Given the description of an element on the screen output the (x, y) to click on. 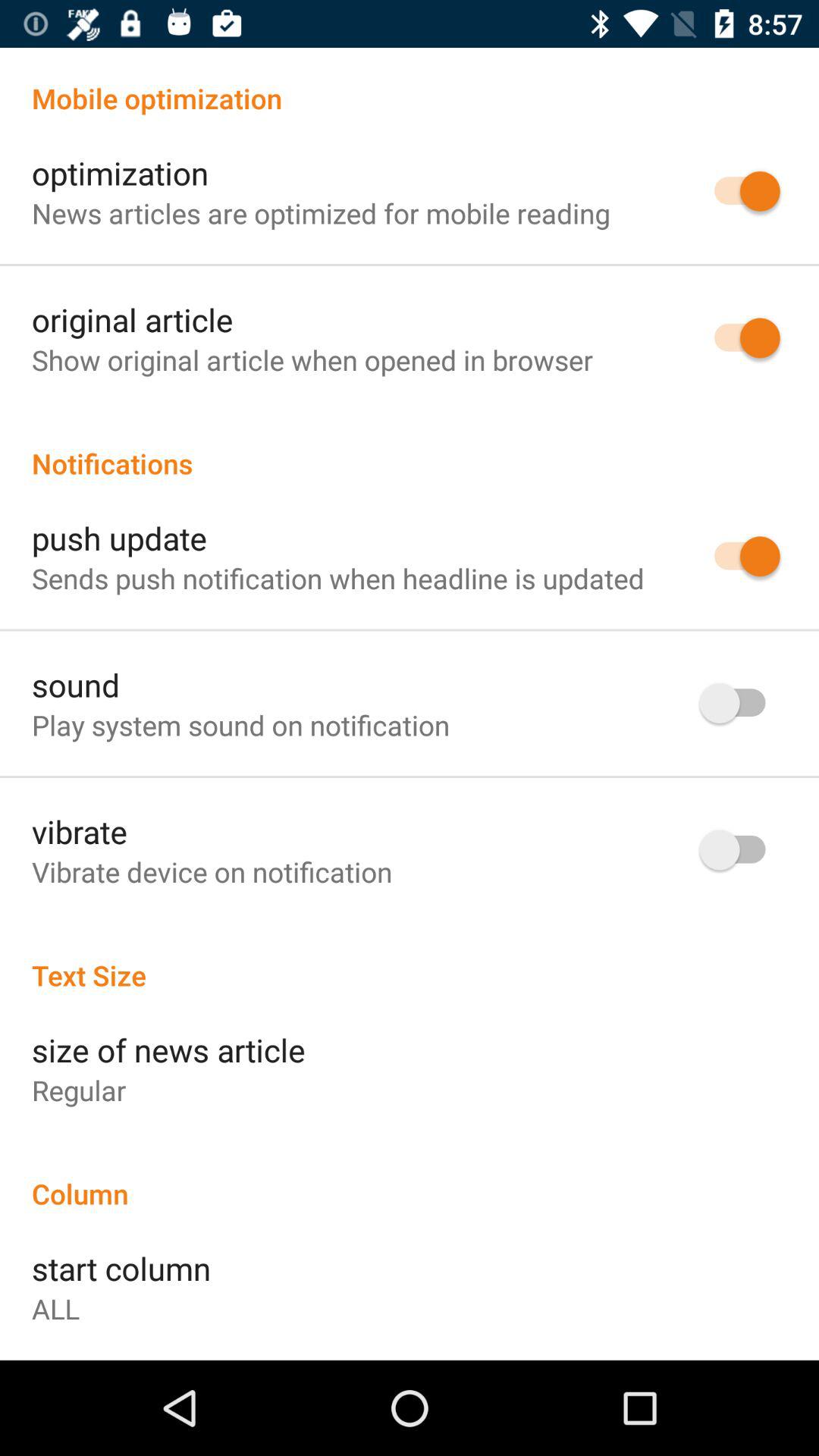
flip until the start column icon (121, 1267)
